Given the description of an element on the screen output the (x, y) to click on. 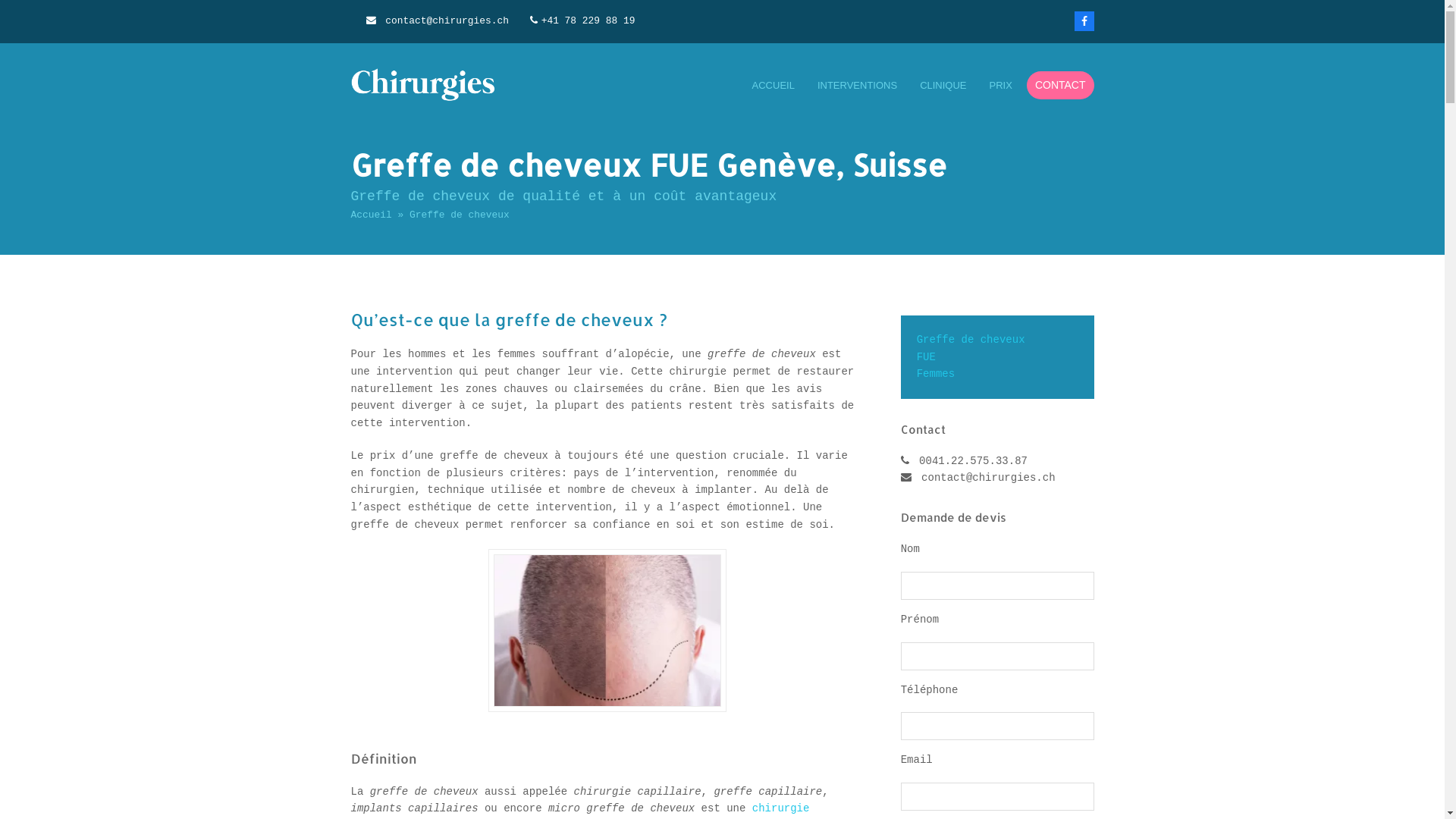
FUE Element type: text (925, 356)
CONTACT Element type: text (1060, 85)
PRIX Element type: text (1000, 85)
Greffe de cheveux Element type: text (970, 339)
CLINIQUE Element type: text (942, 85)
Femmes Element type: text (935, 373)
Facebook Element type: text (1083, 21)
ACCUEIL Element type: text (773, 85)
Accueil Element type: text (370, 214)
INTERVENTIONS Element type: text (857, 85)
